Given the description of an element on the screen output the (x, y) to click on. 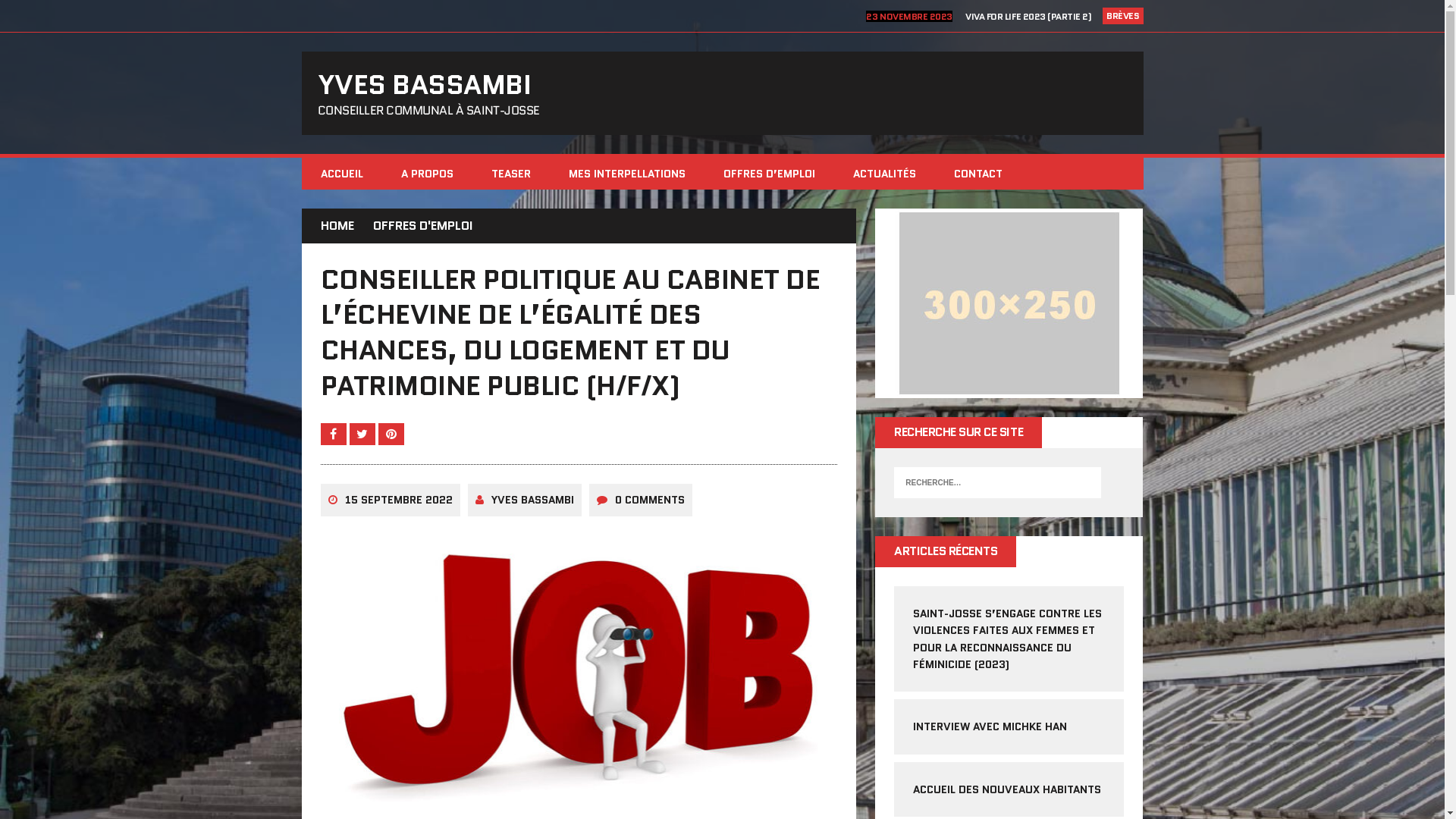
CONTACT Element type: text (977, 173)
A PROPOS Element type: text (427, 173)
HOME Element type: text (336, 225)
ACCUEIL DES NOUVEAUX HABITANTS Element type: text (1007, 789)
TEASER Element type: text (510, 173)
ACCUEIL DES NOUVEAUX HABITANTS Element type: text (1014, 15)
15 SEPTEMBRE 2022 Element type: text (397, 499)
MES INTERPELLATIONS Element type: text (626, 173)
YVES BASSAMBI Element type: text (532, 499)
INTERVIEW AVEC MICHKE HAN Element type: text (989, 726)
Share on Facebook Element type: hover (334, 433)
OFFRES D'EMPLOI Element type: text (423, 225)
Tweet This Post Element type: hover (362, 433)
ACCUEIL Element type: text (341, 173)
Rechercher Element type: text (34, 11)
Pin This Post Element type: hover (390, 433)
